Given the description of an element on the screen output the (x, y) to click on. 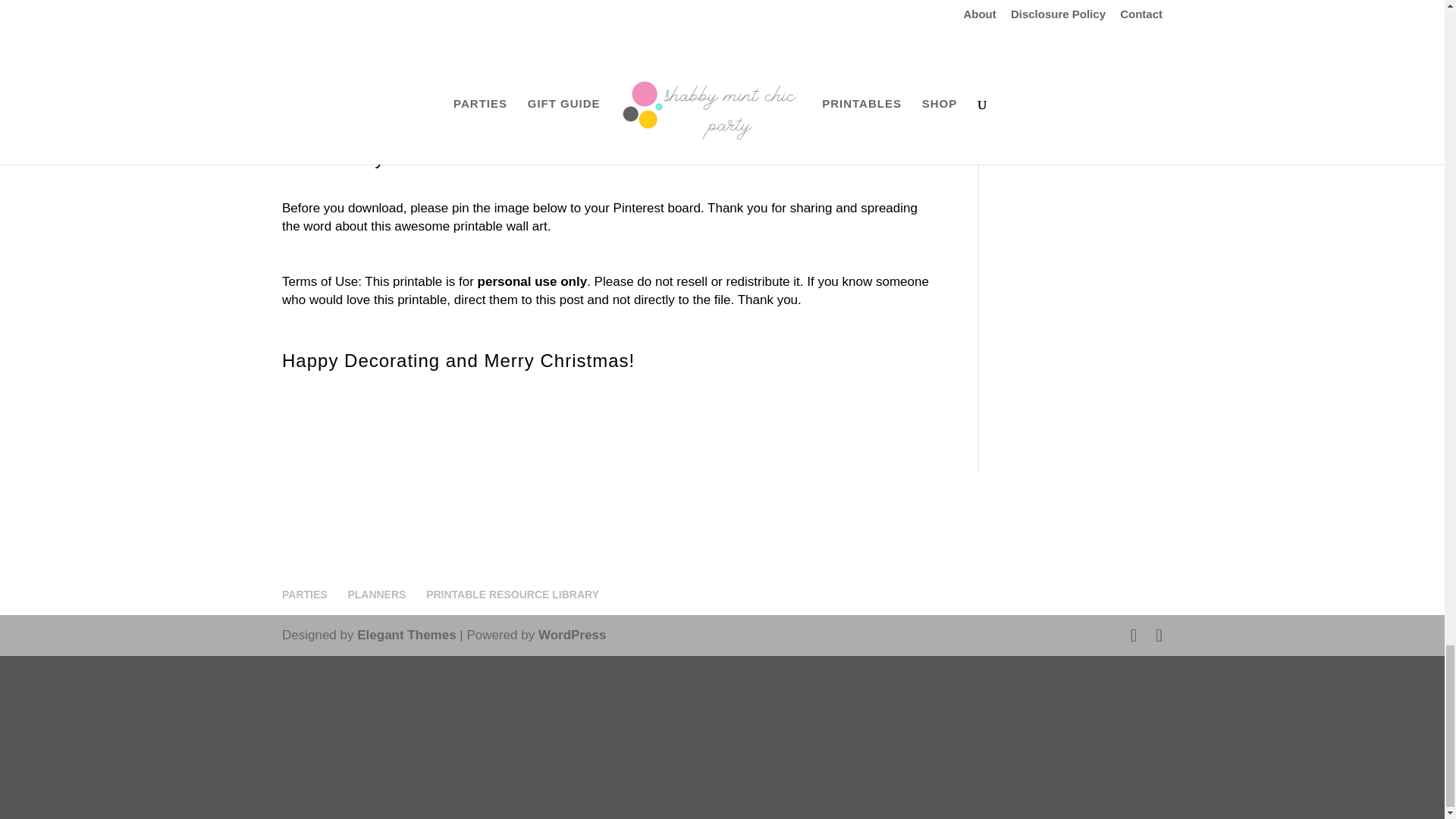
PLANNERS (376, 594)
Premium WordPress Themes (405, 635)
PARTIES (304, 594)
